Given the description of an element on the screen output the (x, y) to click on. 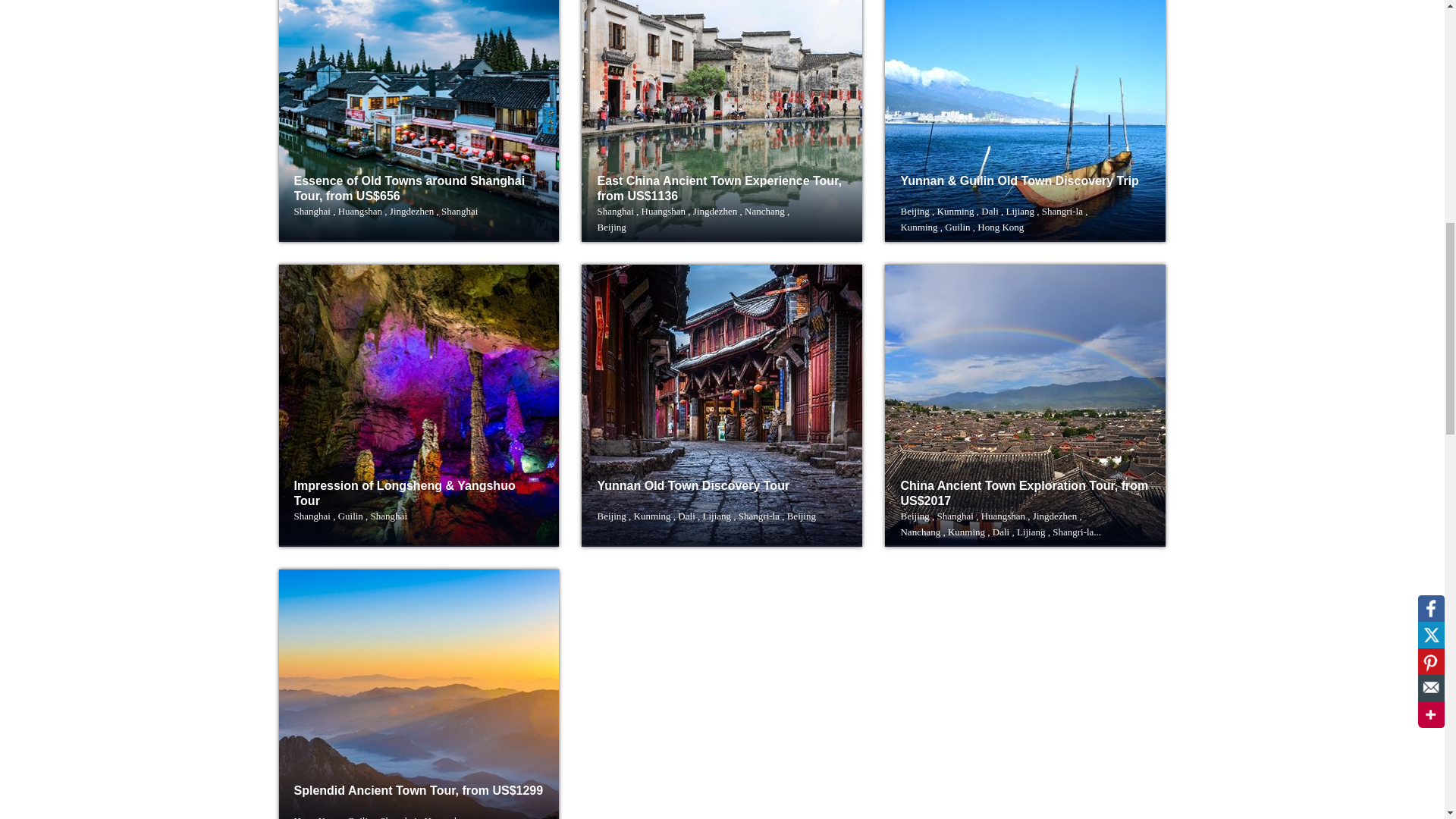
Yunnan Old Town Discovery Tour (705, 515)
Yunnan Old Town Discovery Tour (720, 404)
Yunnan Old Town Discovery Tour (692, 485)
